Given the description of an element on the screen output the (x, y) to click on. 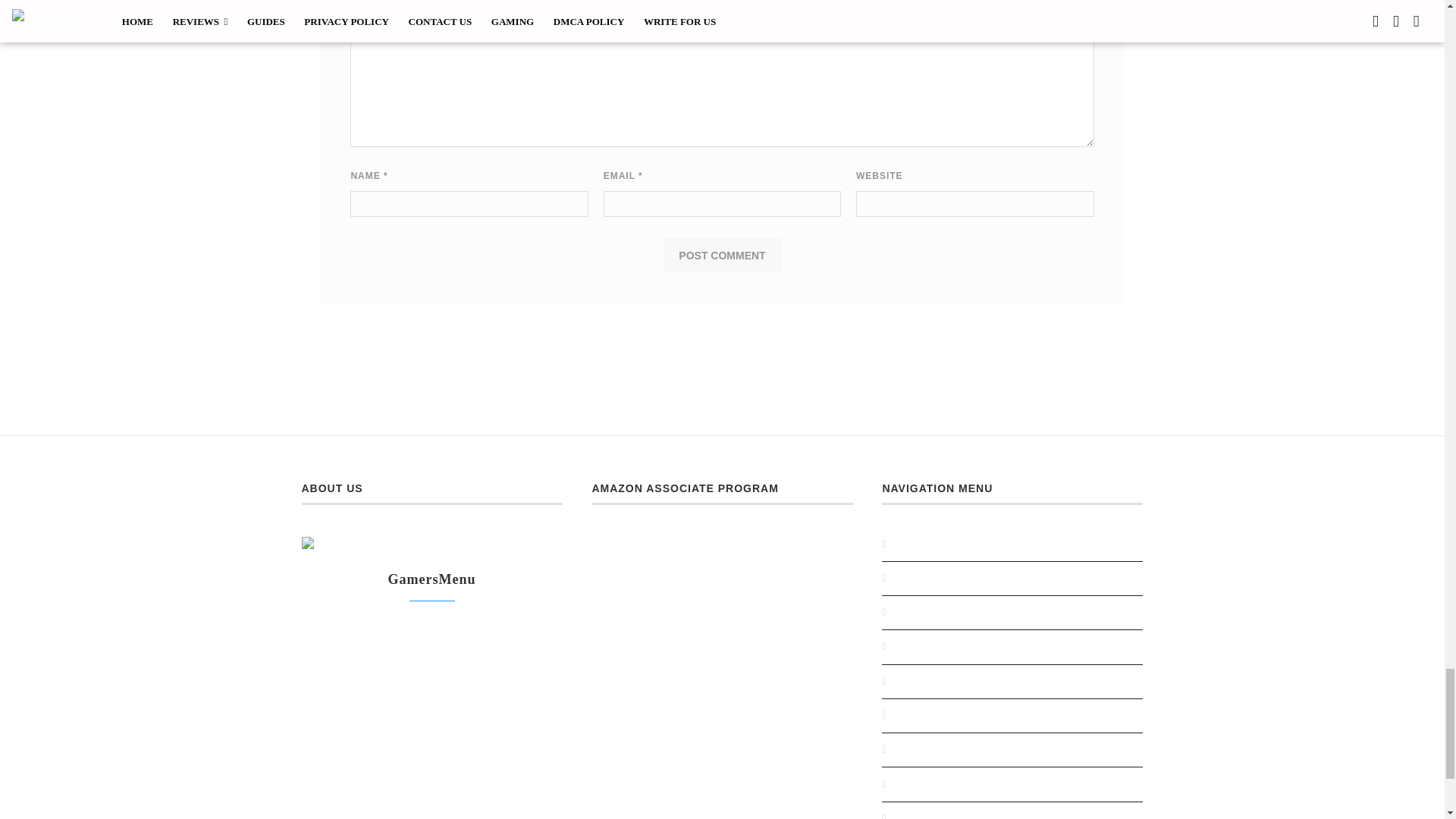
Post Comment (721, 255)
